Given the description of an element on the screen output the (x, y) to click on. 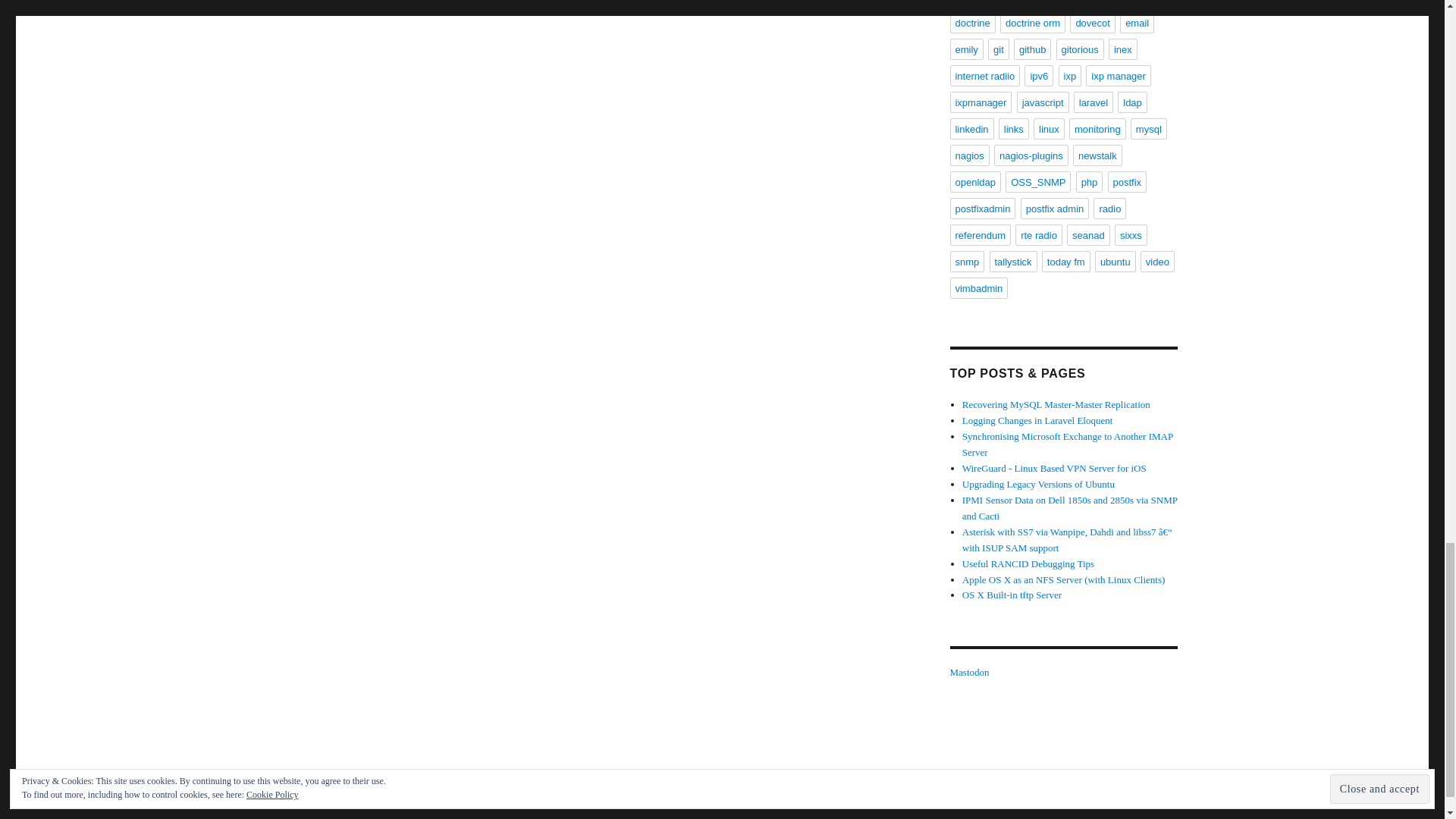
asterisk (1043, 3)
addressbook (982, 3)
